Given the description of an element on the screen output the (x, y) to click on. 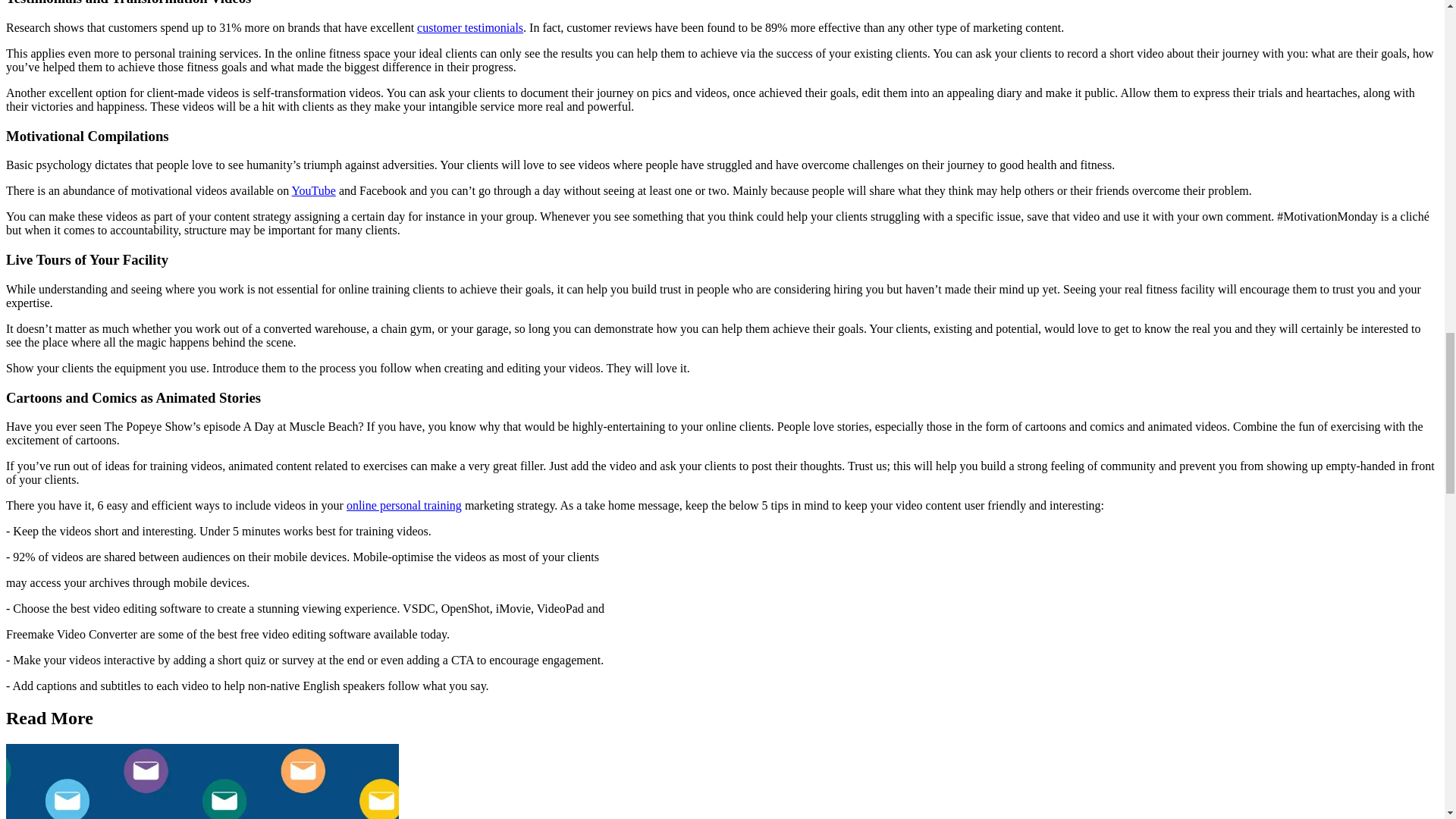
online personal training (403, 504)
customer testimonials (469, 27)
YouTube (314, 190)
